Given the description of an element on the screen output the (x, y) to click on. 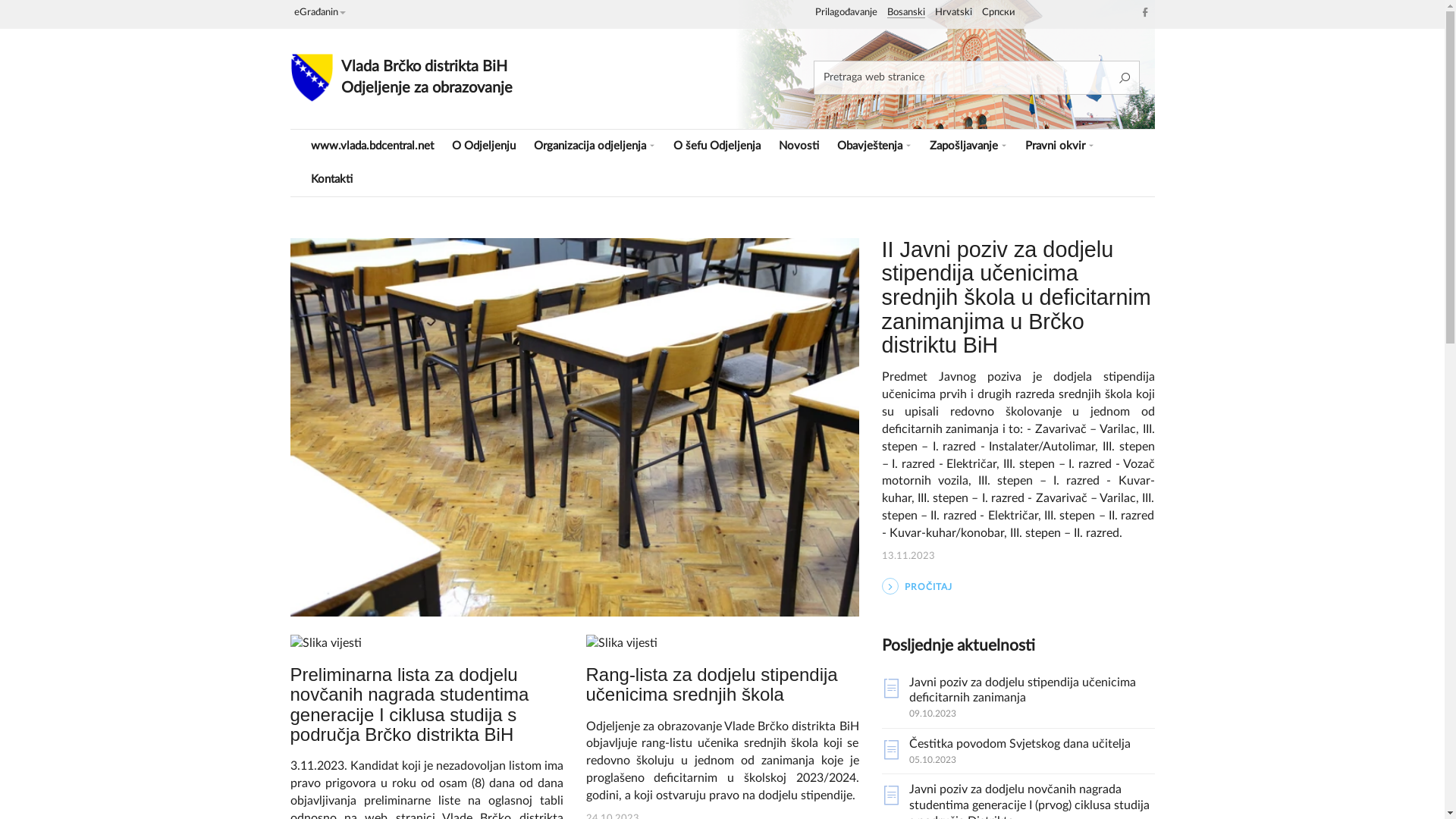
Novosti Element type: text (797, 146)
Pravni okvir Element type: text (1059, 146)
Bosanski Element type: text (906, 12)
O Odjeljenju Element type: text (483, 146)
Organizacija odjeljenja Element type: text (594, 146)
Kontakti Element type: text (331, 179)
www.vlada.bdcentral.net Element type: text (371, 146)
Hrvatski Element type: text (952, 12)
